Given the description of an element on the screen output the (x, y) to click on. 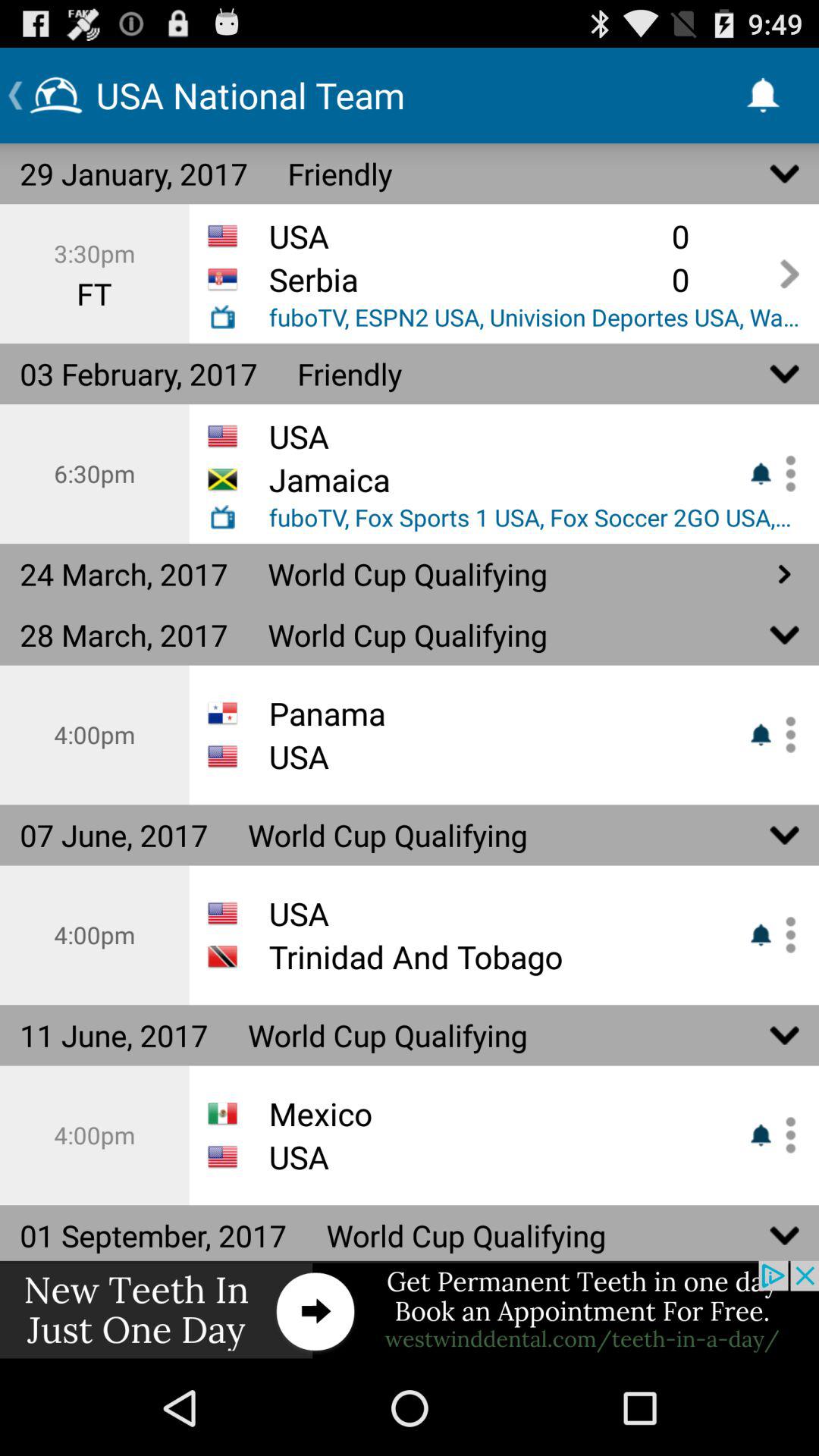
view more options (785, 734)
